Given the description of an element on the screen output the (x, y) to click on. 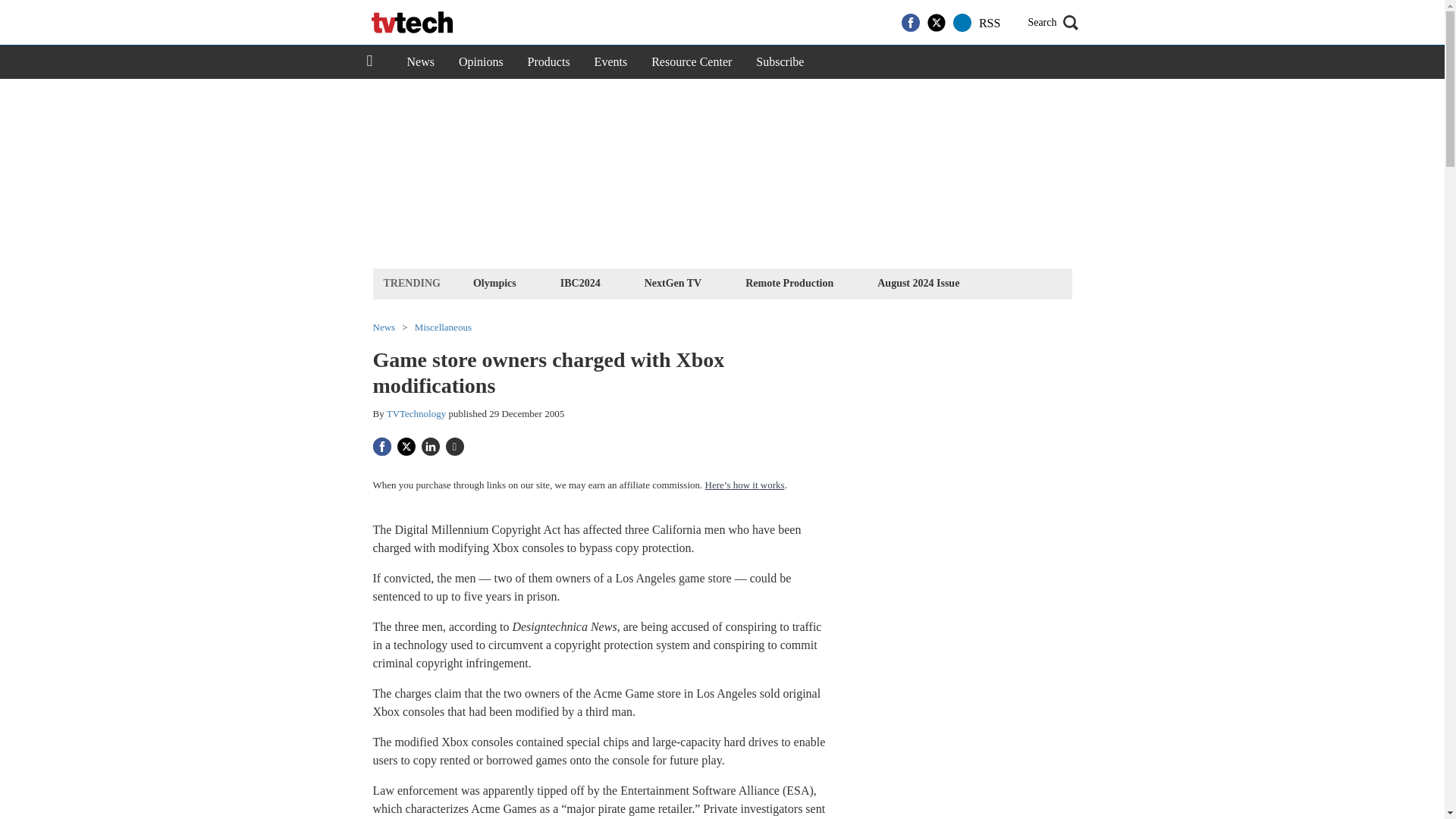
Subscribe (779, 61)
Products (548, 61)
TVTechnology (416, 413)
RSS (989, 22)
Opinions (480, 61)
Events (611, 61)
NextGen TV (673, 282)
IBC2024 (579, 282)
Miscellaneous (442, 327)
Remote Production (788, 282)
